Given the description of an element on the screen output the (x, y) to click on. 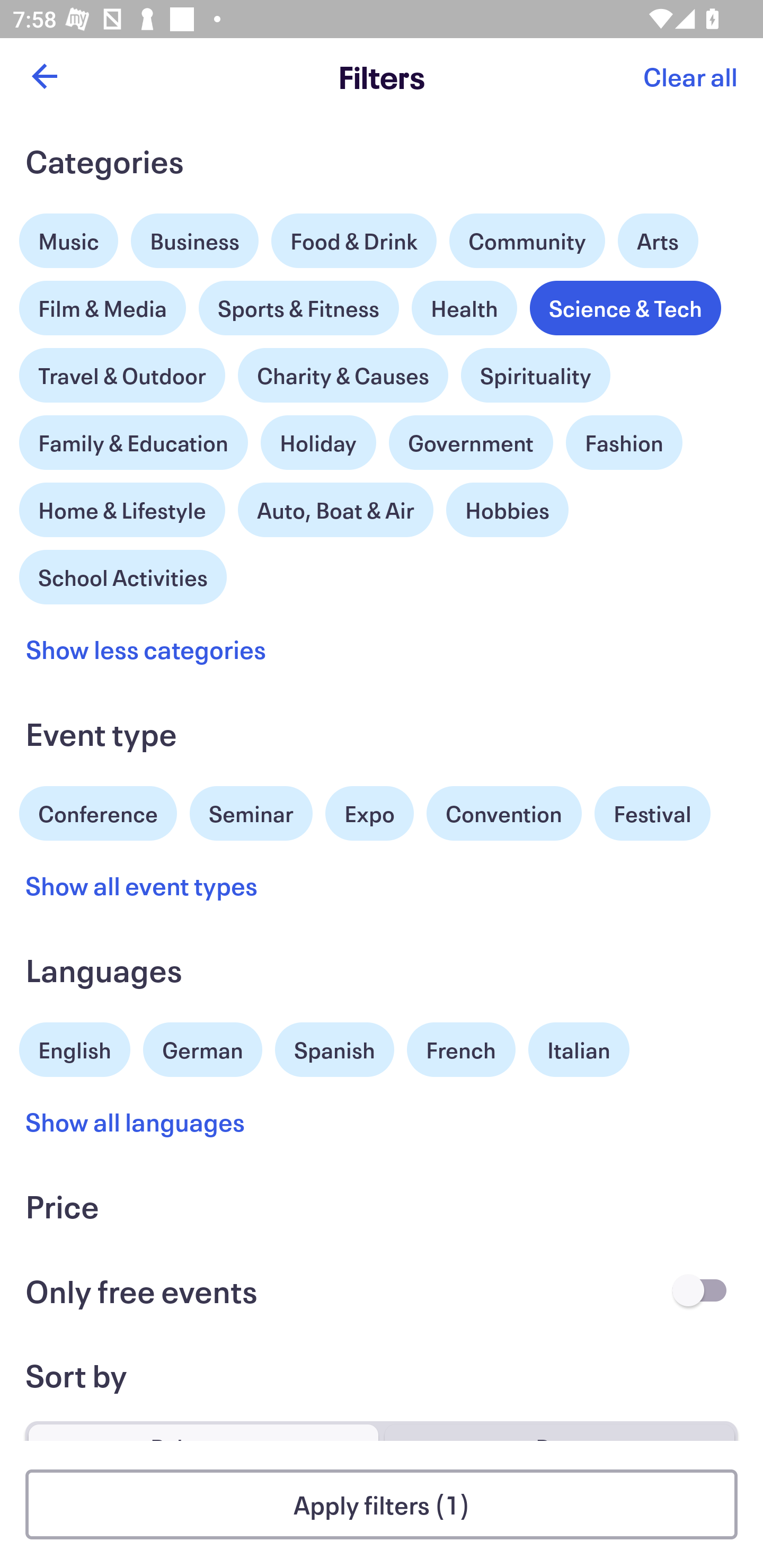
Back button (44, 75)
Clear all (690, 75)
Music (68, 235)
Business (194, 240)
Food & Drink (353, 240)
Community (527, 240)
Arts (658, 235)
Film & Media (102, 303)
Sports & Fitness (298, 307)
Health (464, 307)
Science & Tech (625, 307)
Travel & Outdoor (122, 370)
Charity & Causes (343, 375)
Spirituality (535, 375)
Family & Education (133, 442)
Holiday (318, 437)
Government (471, 442)
Fashion (624, 442)
Home & Lifestyle (122, 505)
Auto, Boat & Air (335, 509)
Hobbies (507, 509)
School Activities (122, 575)
Show less categories (145, 648)
Conference (98, 811)
Seminar (250, 813)
Expo (369, 813)
Convention (503, 813)
Festival (652, 813)
Show all event types (141, 884)
English (74, 1047)
German (202, 1047)
Spanish (334, 1049)
French (460, 1049)
Italian (578, 1049)
Show all languages (135, 1121)
Apply filters (1) (381, 1504)
